Given the description of an element on the screen output the (x, y) to click on. 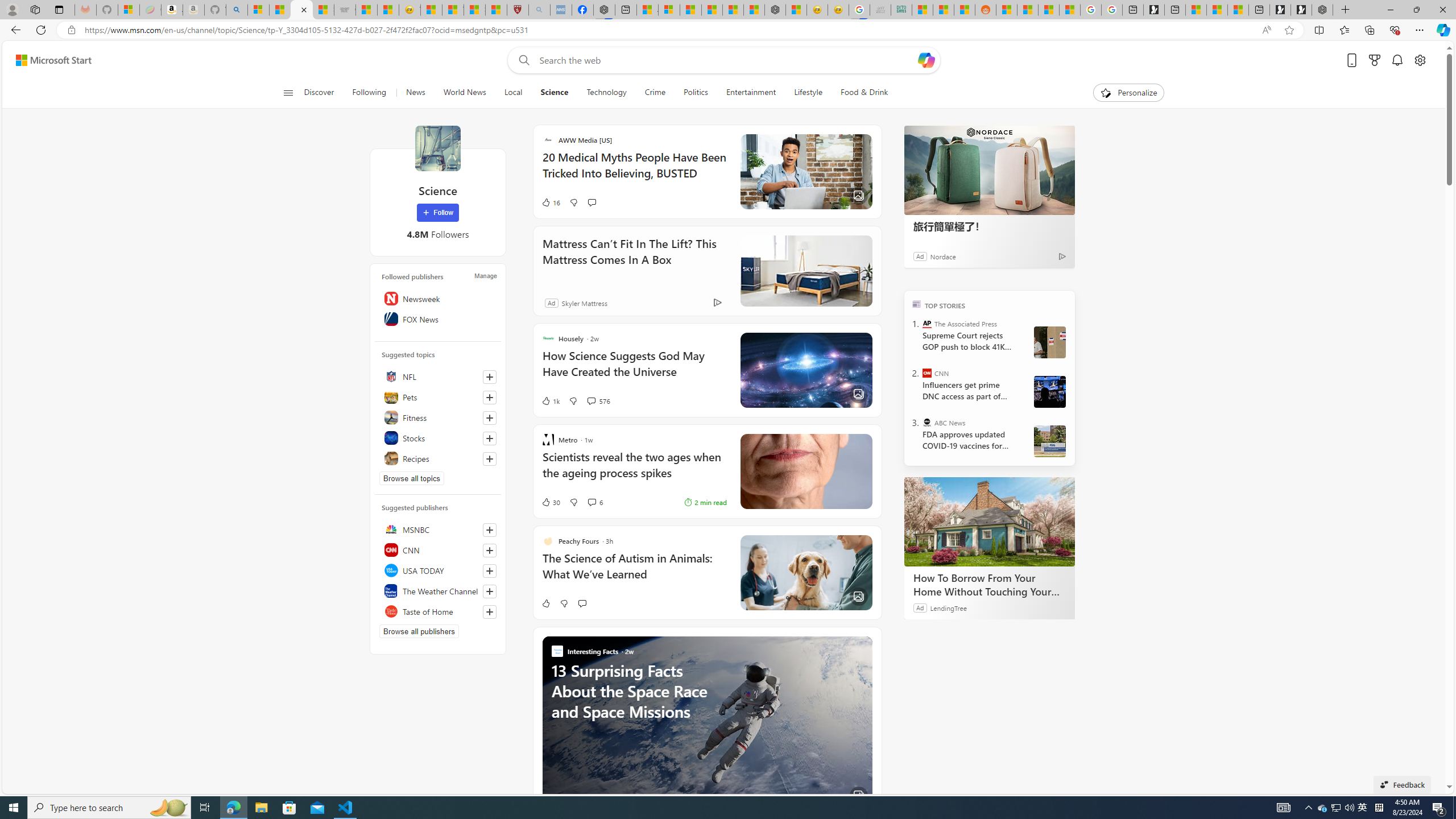
NFL (437, 376)
Pets (437, 397)
